Given the description of an element on the screen output the (x, y) to click on. 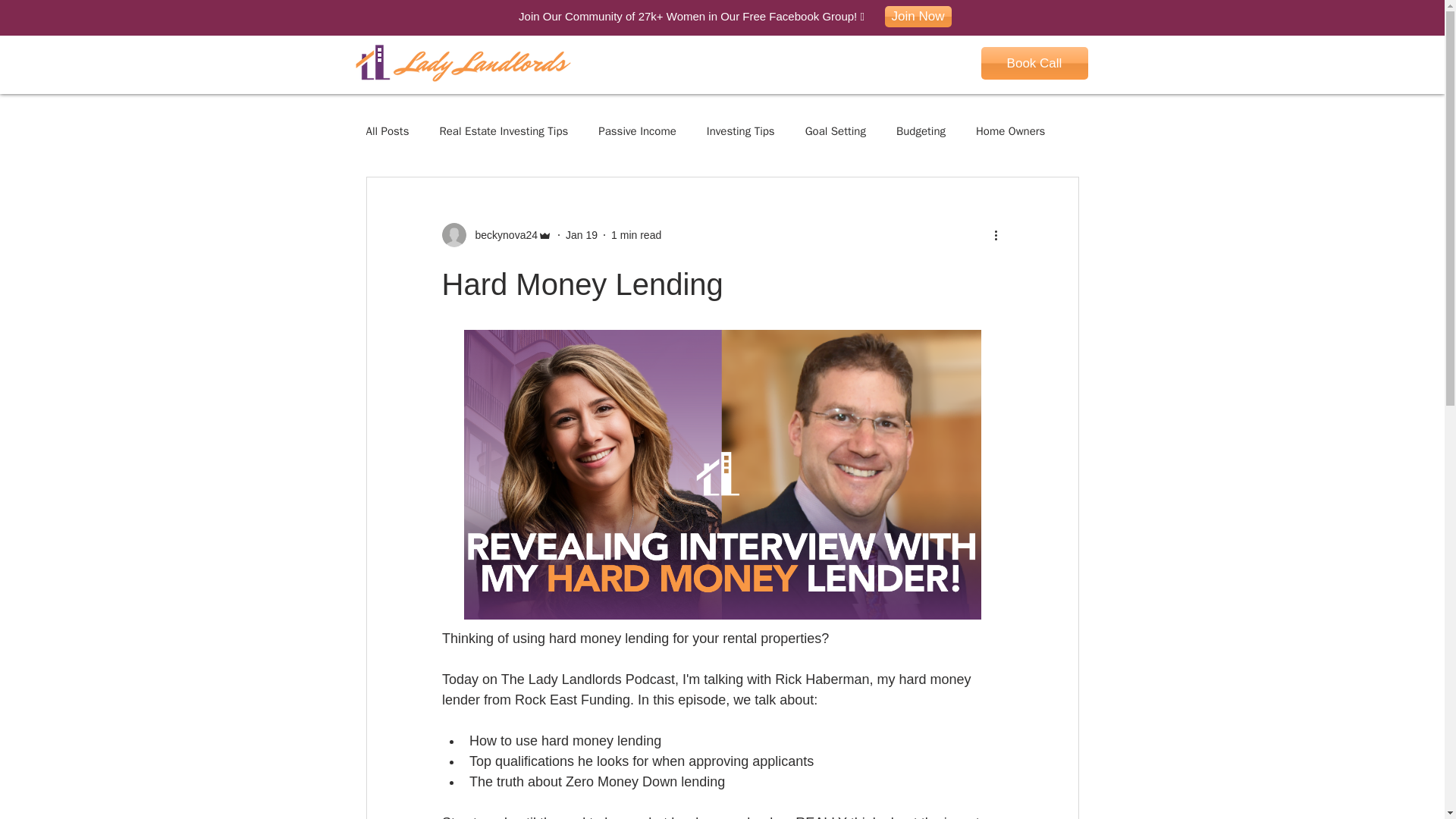
Join Now (916, 16)
Jan 19 (581, 234)
Book Call (1034, 62)
Passive Income (636, 131)
beckynova24 (501, 235)
1 min read (636, 234)
Home Owners (1010, 131)
Budgeting (920, 131)
Real Estate Investing Tips (503, 131)
All Posts (387, 131)
Goal Setting (835, 131)
Investing Tips (740, 131)
